Given the description of an element on the screen output the (x, y) to click on. 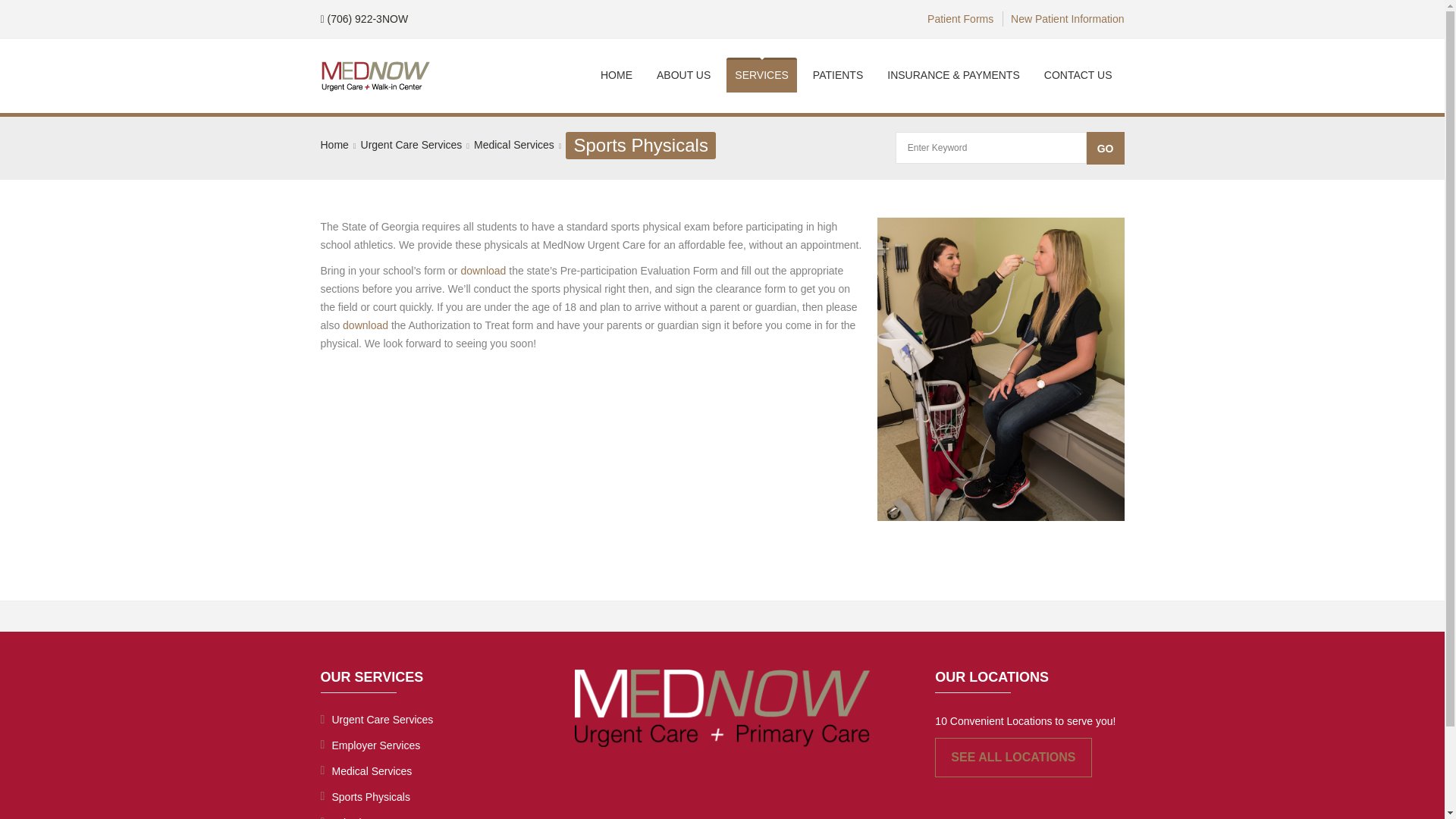
HOME (616, 74)
Go (1105, 147)
PATIENTS (837, 74)
SERVICES (761, 74)
Enter Keyword (990, 147)
Urgent Care Services (420, 719)
Patient Forms (959, 18)
Medical Services (420, 770)
Urgent Care Services (412, 144)
Home (333, 144)
